Given the description of an element on the screen output the (x, y) to click on. 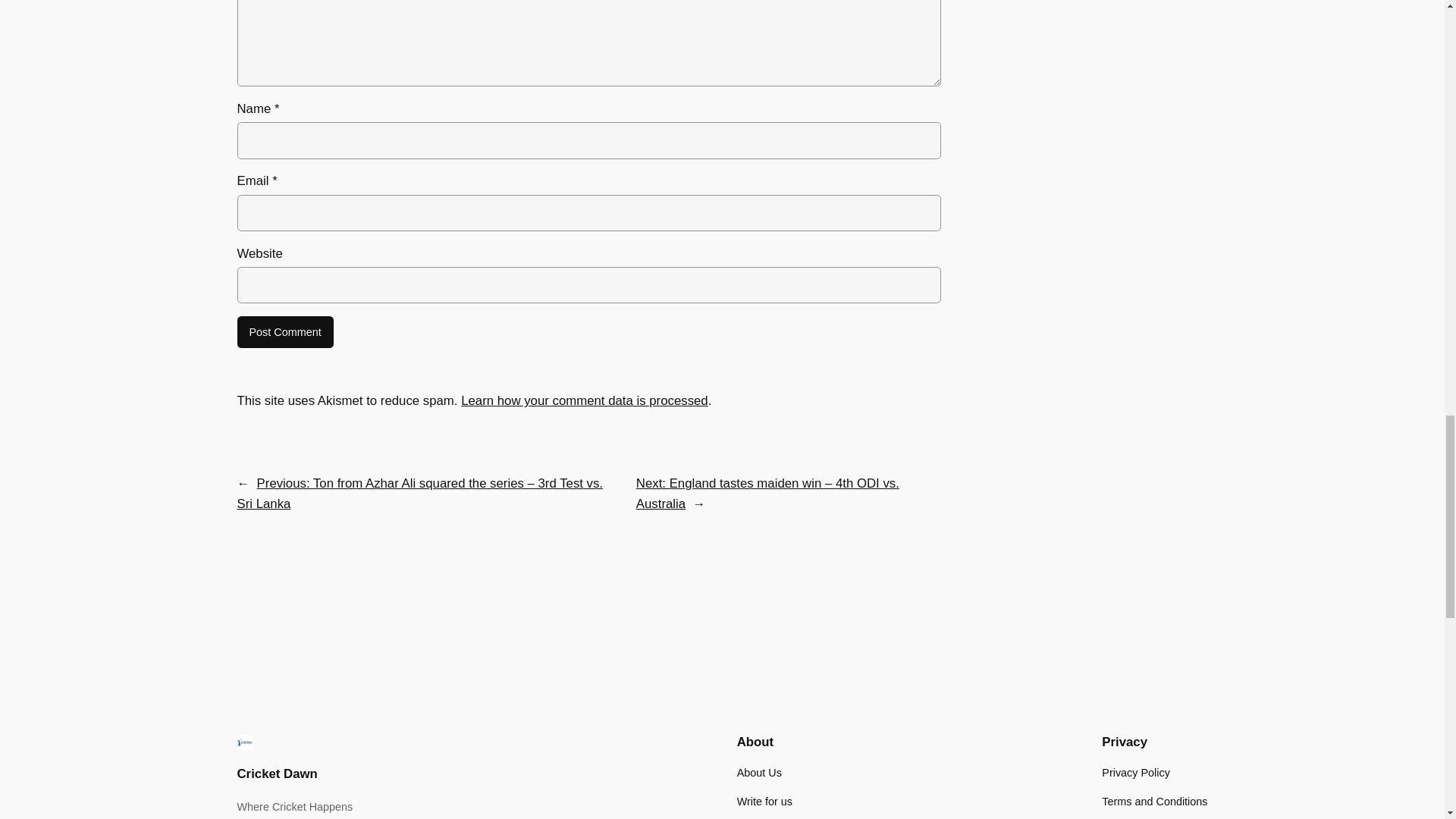
Learn how your comment data is processed (584, 400)
Post Comment (284, 332)
About Us (758, 772)
Cricket Dawn (276, 773)
Post Comment (284, 332)
